Given the description of an element on the screen output the (x, y) to click on. 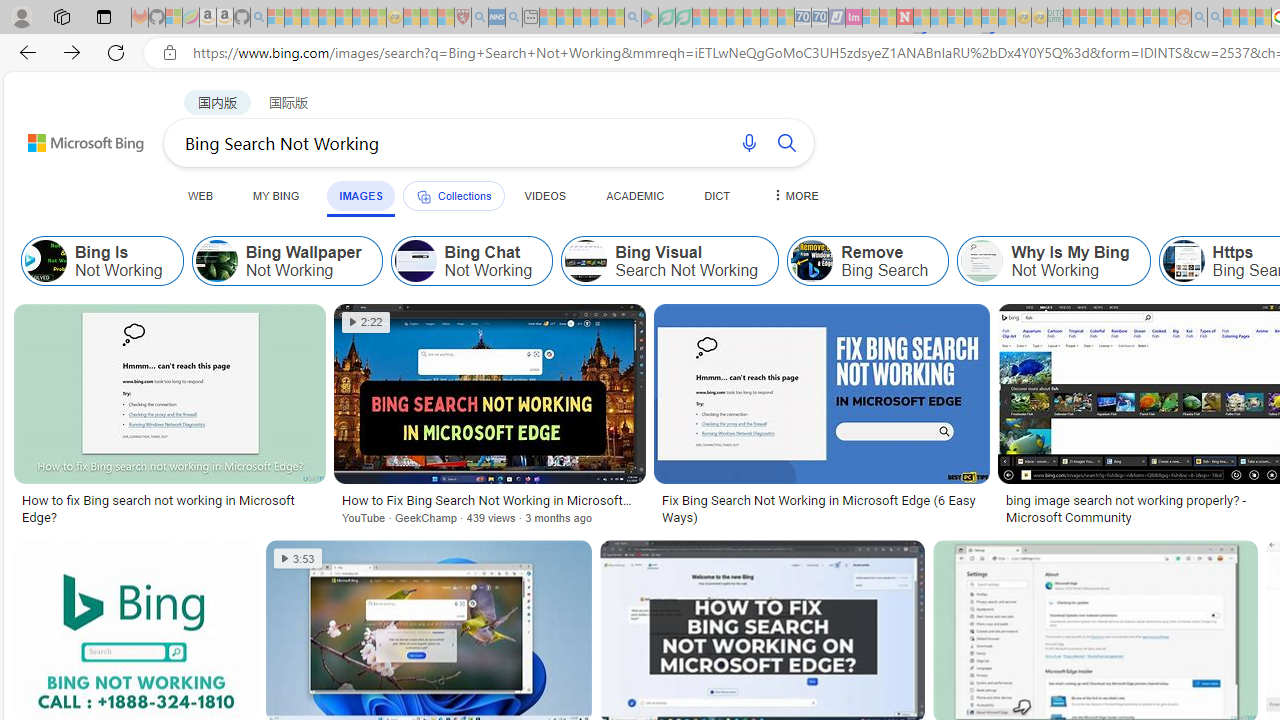
Jobs - lastminute.com Investor Portal - Sleeping (853, 17)
Pets - MSN - Sleeping (598, 17)
Bing Is Not Working (102, 260)
Latest Politics News & Archive | Newsweek.com - Sleeping (904, 17)
WEB (201, 195)
Bing Chat Not Working (415, 260)
Search button (786, 142)
Kinda Frugal - MSN - Sleeping (1135, 17)
